Given the description of an element on the screen output the (x, y) to click on. 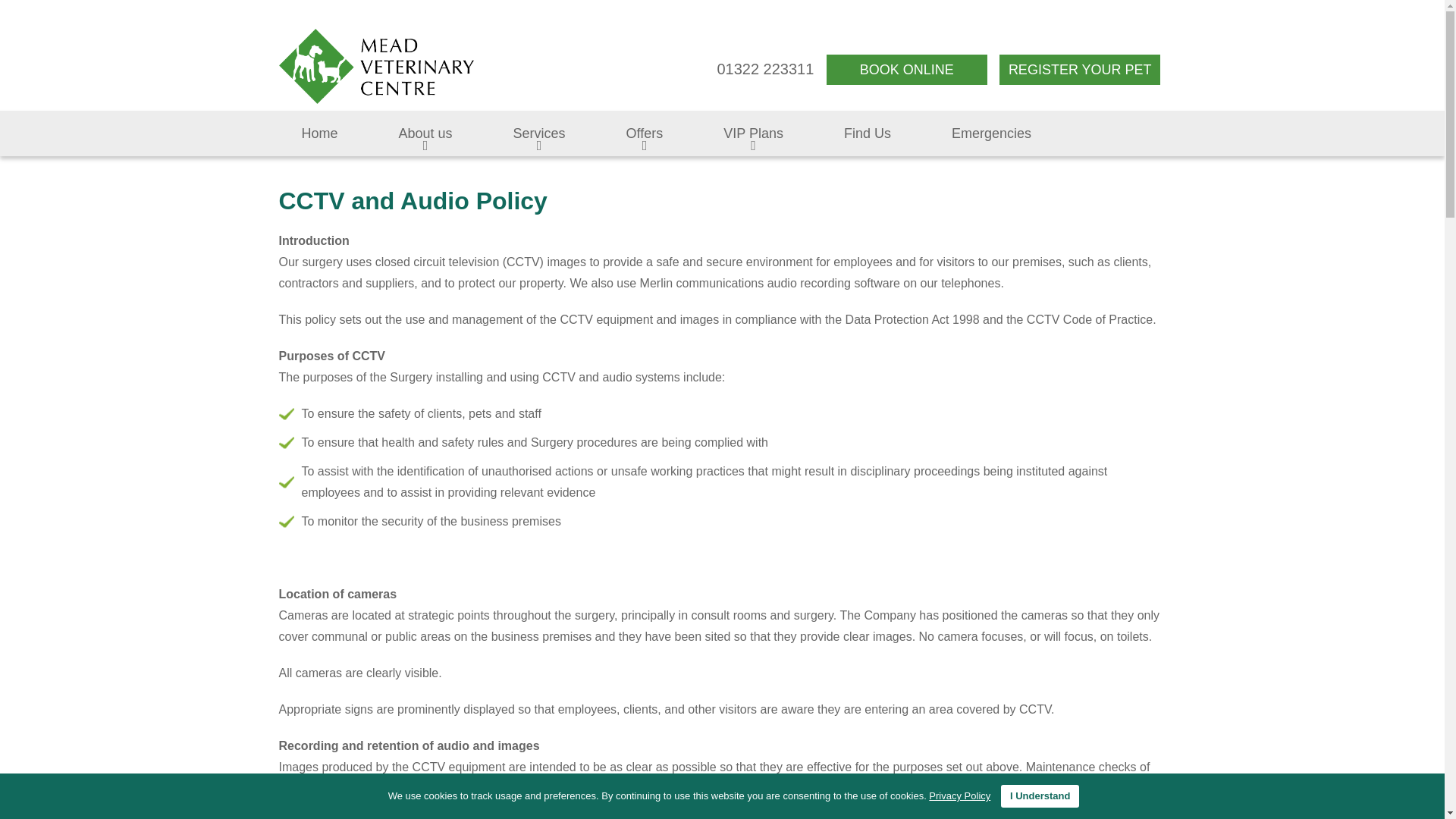
BOOK ONLINE (907, 69)
About us (425, 133)
01322 223311 (764, 68)
REGISTER YOUR PET (1079, 69)
Offers (644, 133)
VIP Plans (753, 133)
Services (539, 133)
Find Us (867, 133)
Emergencies (991, 133)
Home (320, 133)
